Given the description of an element on the screen output the (x, y) to click on. 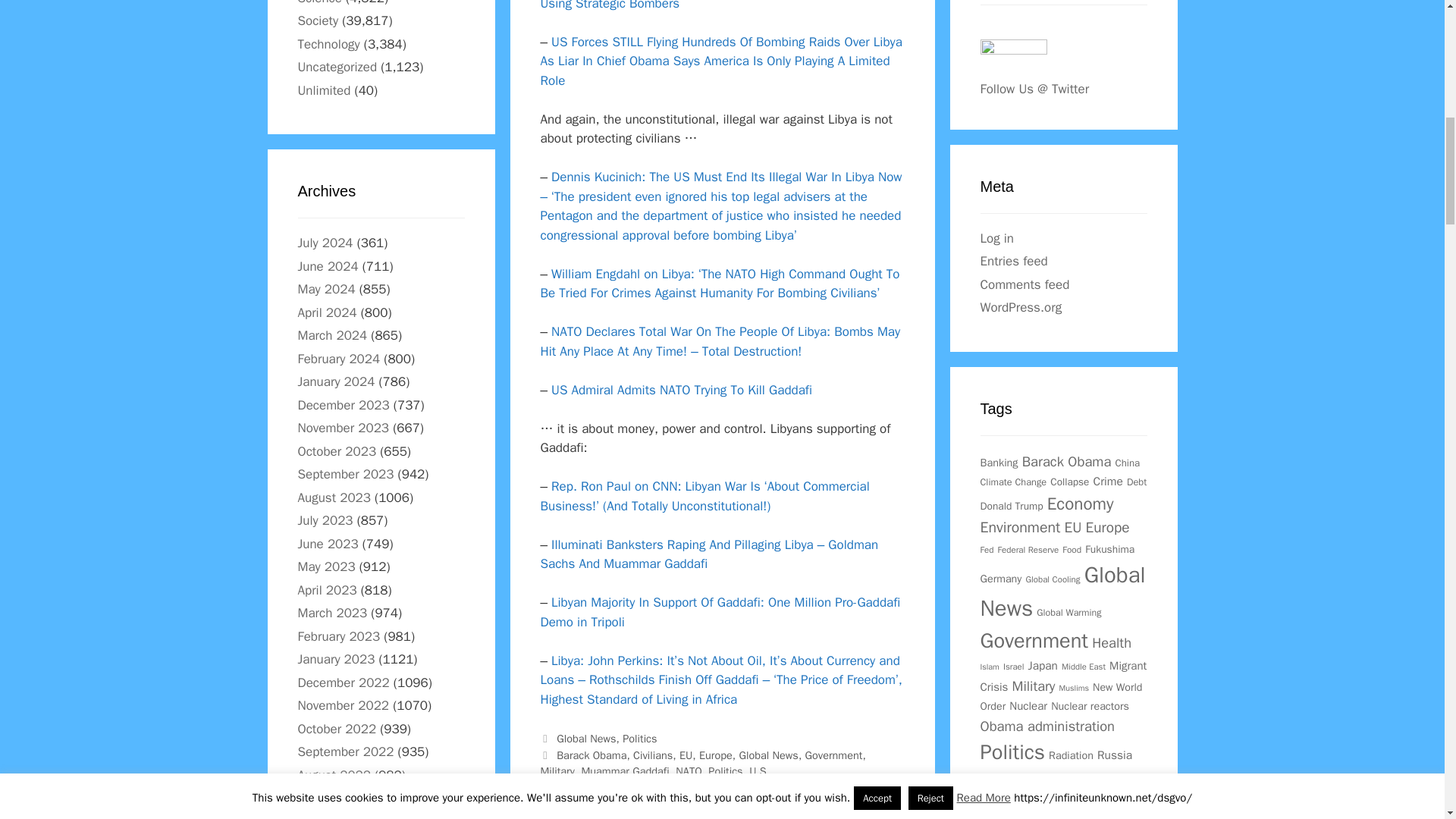
Government (834, 755)
Global News (585, 738)
EU (686, 755)
US Admiral Admits NATO Trying To Kill Gaddafi (681, 390)
NATO (688, 771)
U.S. (759, 771)
Global News (767, 755)
Civilians (652, 755)
Politics (724, 771)
Europe (715, 755)
